Given the description of an element on the screen output the (x, y) to click on. 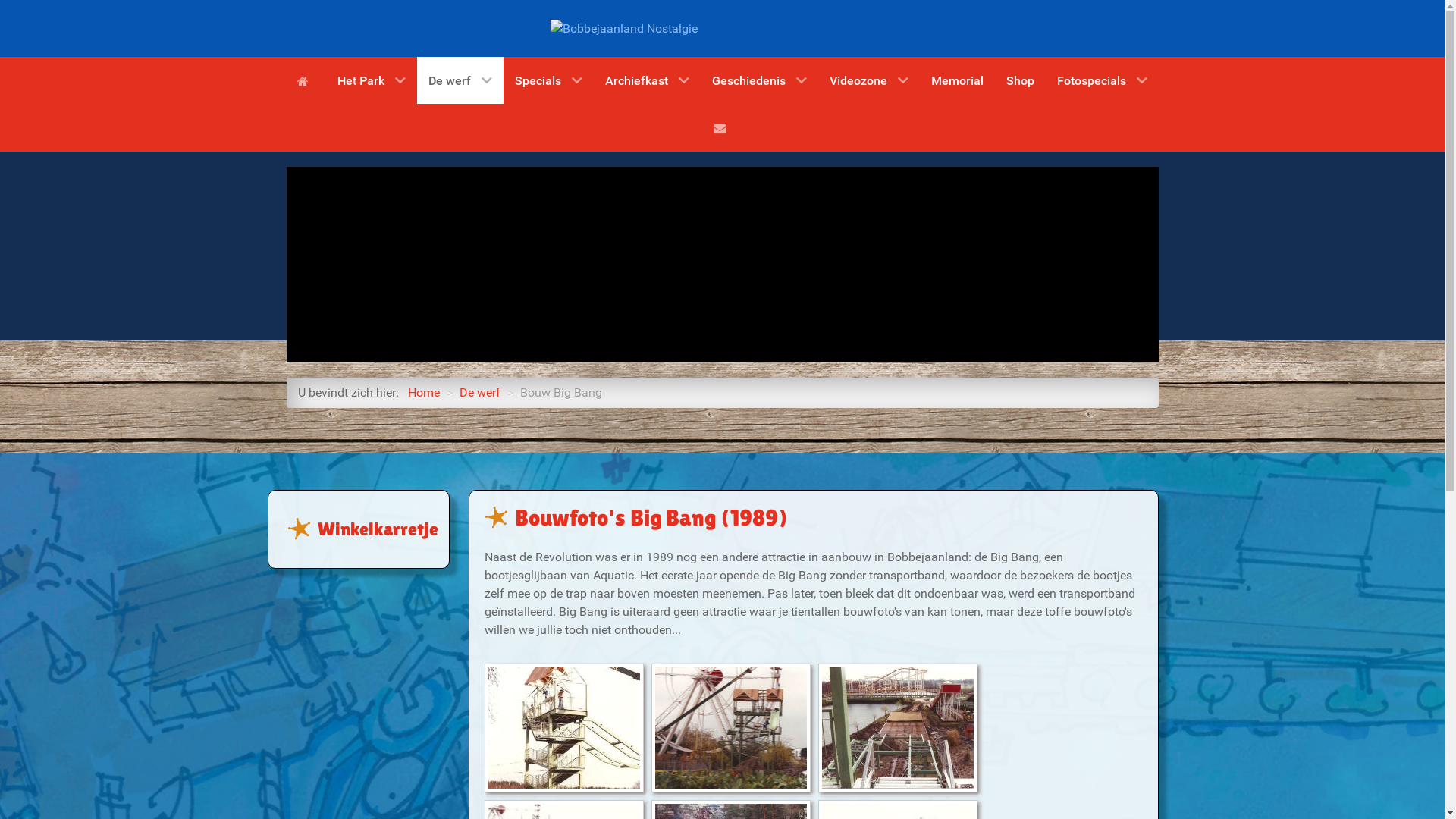
Shop Element type: text (1019, 79)
Home Element type: text (423, 392)
Click to enlarge image bouwbigbang03.jpg Element type: hover (897, 727)
Fotospecials Element type: text (1101, 79)
Archiefkast Element type: text (646, 79)
Memorial Element type: text (956, 79)
Click to enlarge image bouwbigbang02.jpg Element type: hover (730, 727)
Geschiedenis Element type: text (759, 79)
Contact Element type: hover (722, 126)
Het Park Element type: text (371, 79)
Videozone Element type: text (868, 79)
Click to enlarge image bouwbigbang01.jpg Element type: hover (564, 727)
Home Element type: hover (305, 79)
Specials Element type: text (548, 79)
De werf Element type: text (479, 392)
Bobbejaanland Nostalgie Element type: hover (623, 27)
De werf Element type: text (460, 79)
